Given the description of an element on the screen output the (x, y) to click on. 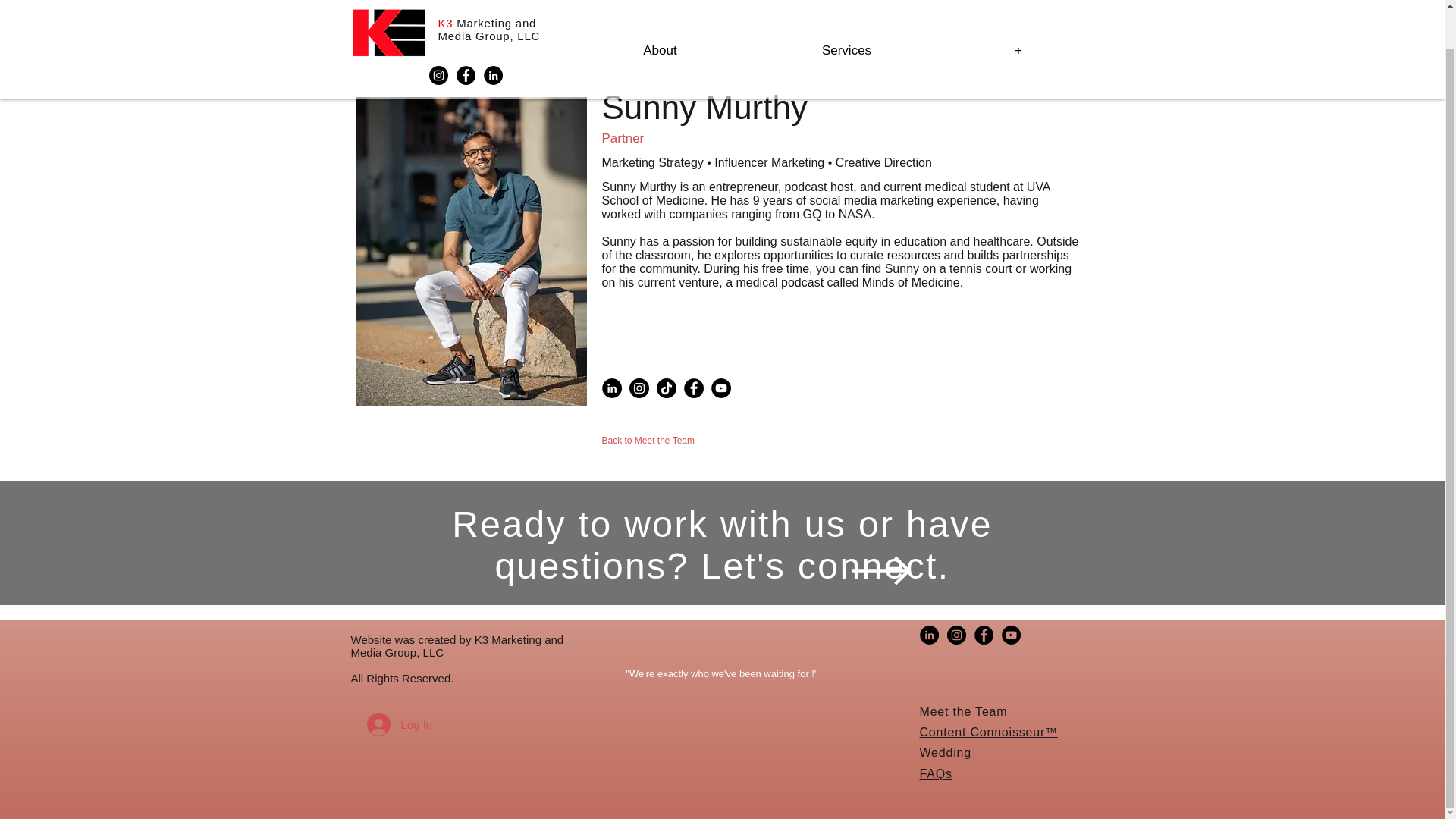
Ready to work with us or have questions? Let's connect. (721, 545)
Wedding (944, 752)
Back to Meet the Team (648, 439)
Log In (389, 724)
Meet the Team (962, 711)
Media Group, LLC (489, 1)
FAQs (935, 773)
